Given the description of an element on the screen output the (x, y) to click on. 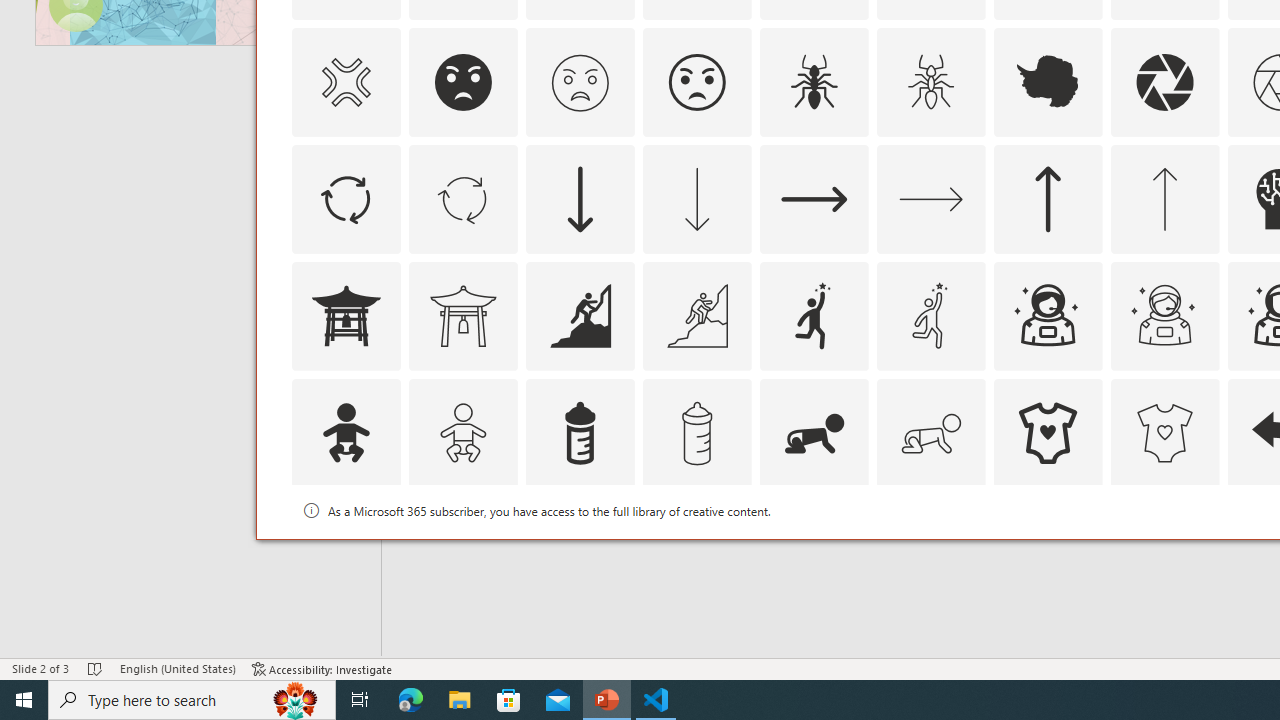
AutomationID: Icons_Badge2 (463, 550)
AutomationID: Icons_AngerSymbol_M (345, 82)
AutomationID: Icons_AngryFace_Outline (696, 82)
AutomationID: Icons_Badge10_M (345, 550)
AutomationID: Icons_ArrowDown (579, 198)
AutomationID: Icons_Aspiration_M (696, 316)
AutomationID: Icons_Antarctica (1048, 82)
AutomationID: Icons_Baby (345, 432)
